Given the description of an element on the screen output the (x, y) to click on. 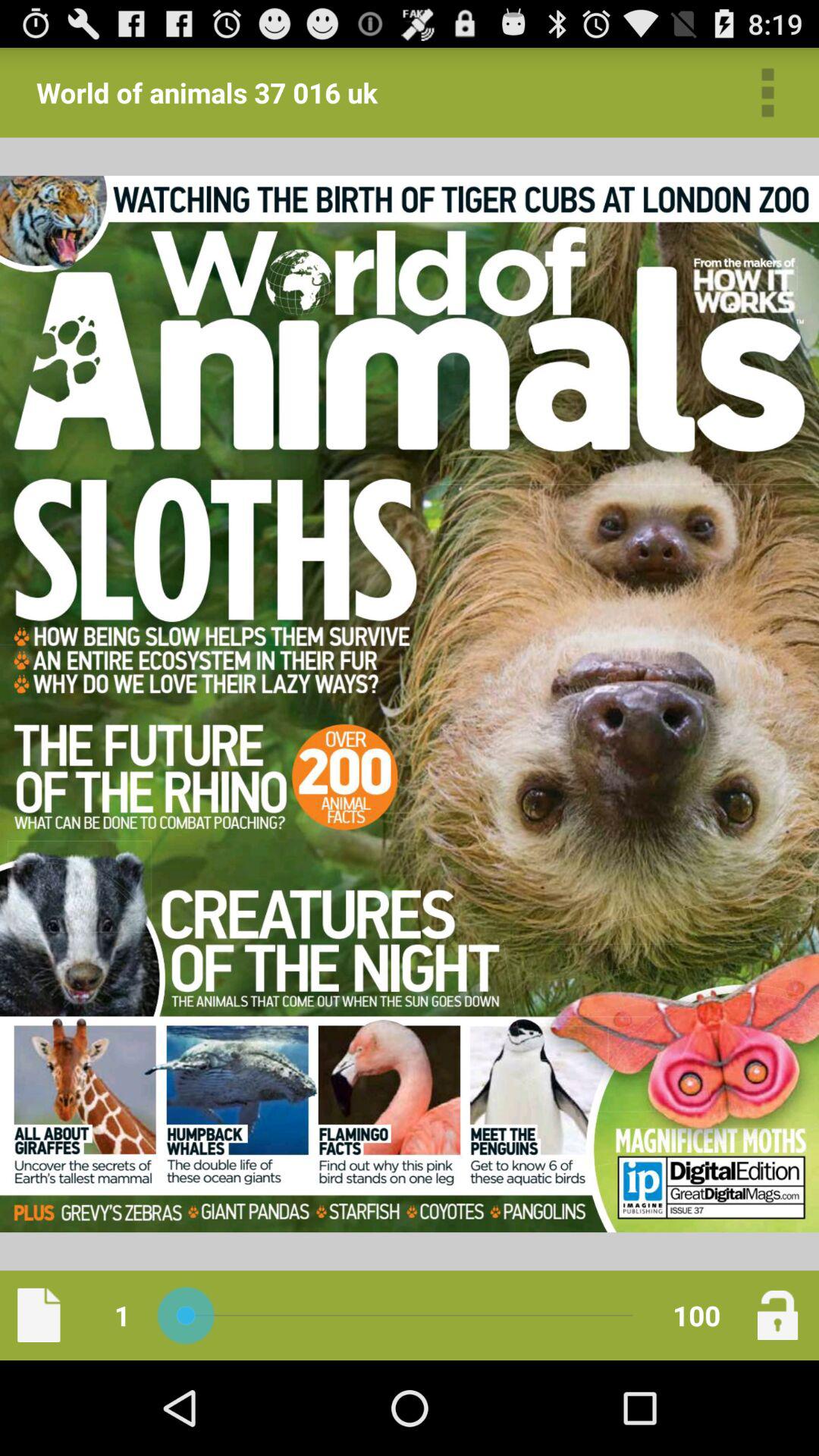
open icon above 100 (767, 92)
